Given the description of an element on the screen output the (x, y) to click on. 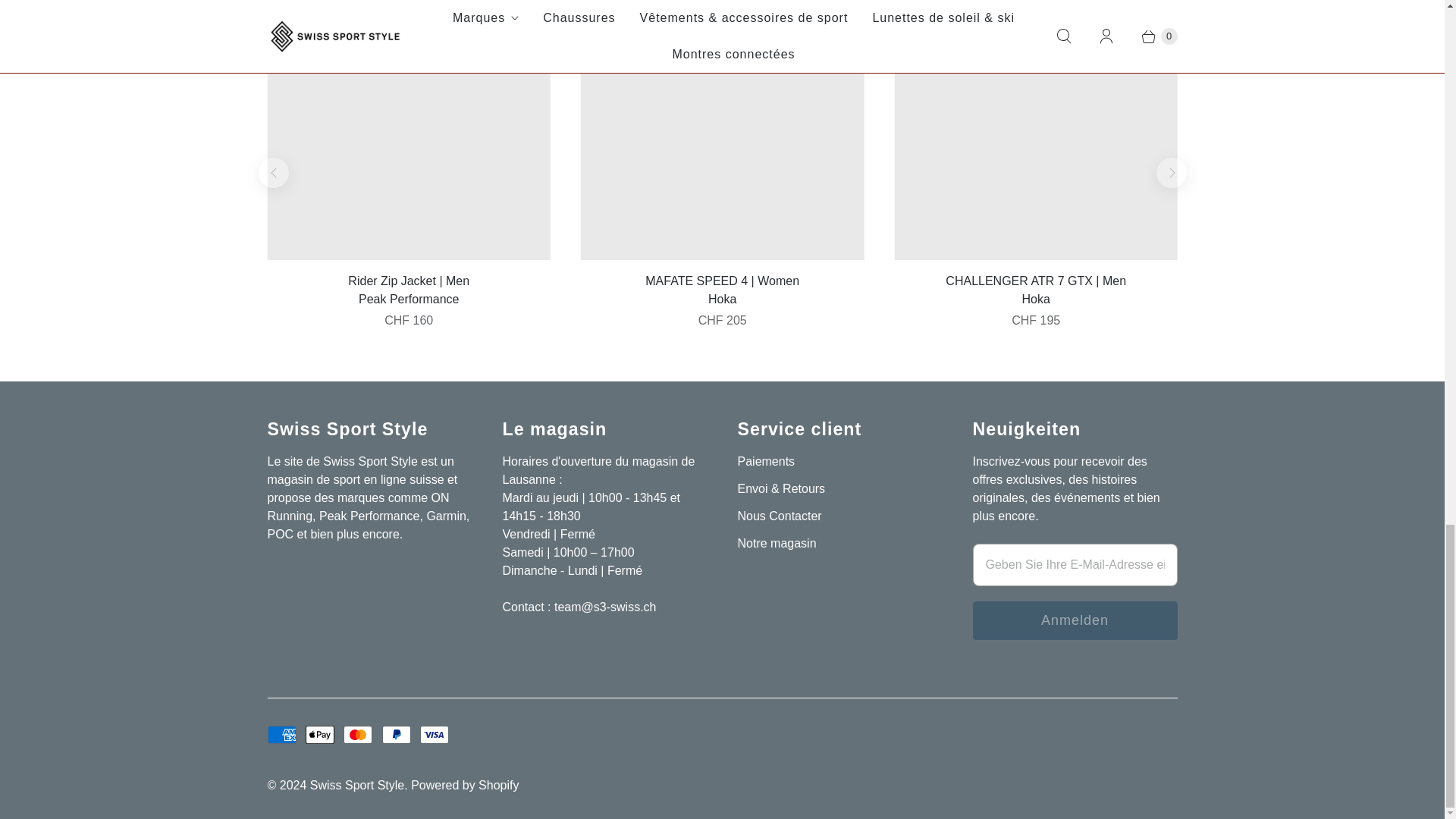
Anmelden (1074, 620)
American Express (280, 734)
Mastercard (357, 734)
PayPal (395, 734)
Visa (434, 734)
Apple Pay (319, 734)
